Given the description of an element on the screen output the (x, y) to click on. 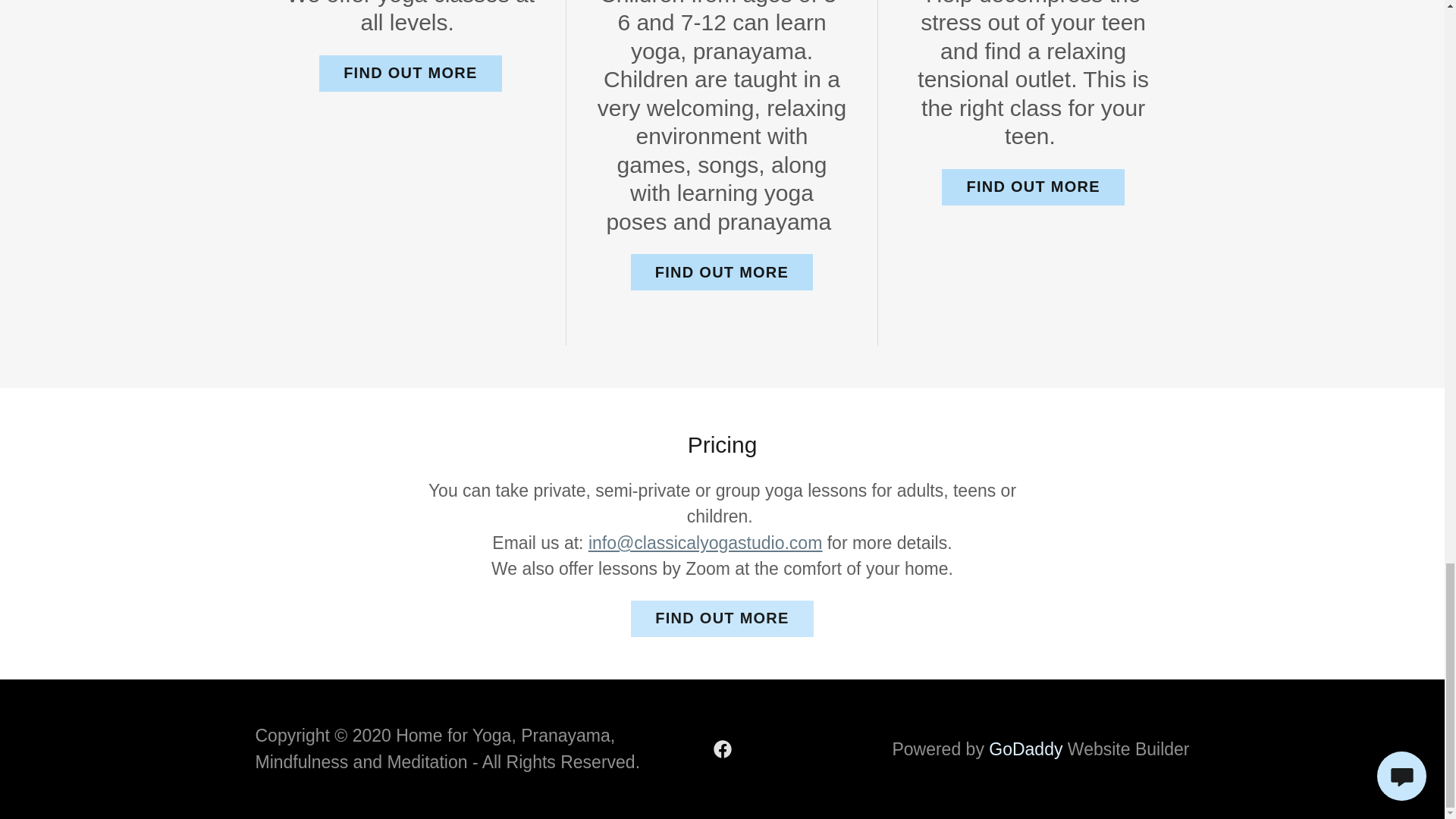
FIND OUT MORE (409, 73)
FIND OUT MORE (1033, 186)
GoDaddy (1025, 749)
FIND OUT MORE (721, 618)
FIND OUT MORE (721, 271)
